Given the description of an element on the screen output the (x, y) to click on. 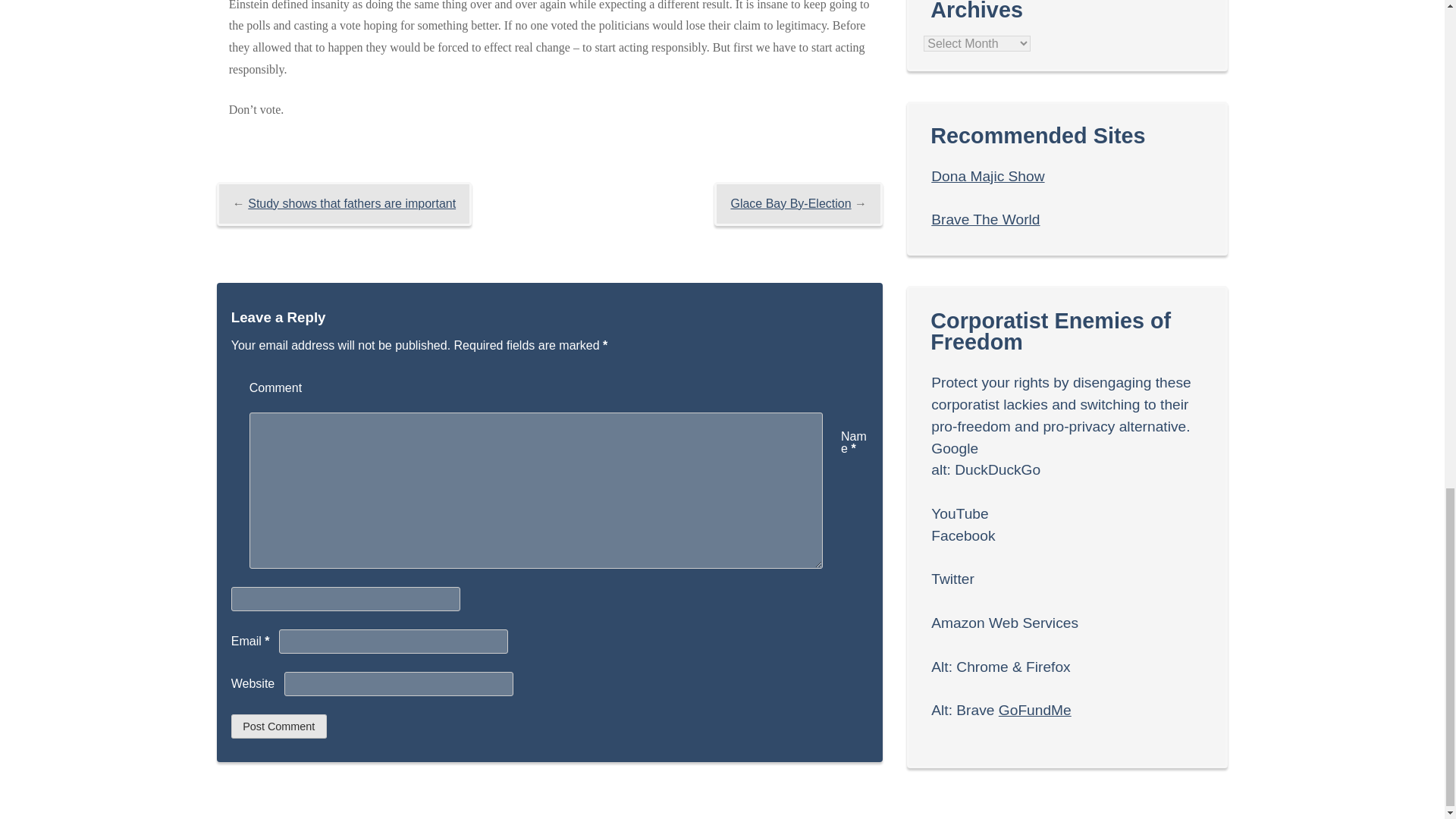
GoFundMe (1034, 709)
Post Comment (278, 726)
Brave The World (985, 219)
Dona Majic Show (987, 176)
Glace Bay By-Election (790, 203)
Post Comment (278, 726)
Study shows that fathers are important (351, 203)
